Given the description of an element on the screen output the (x, y) to click on. 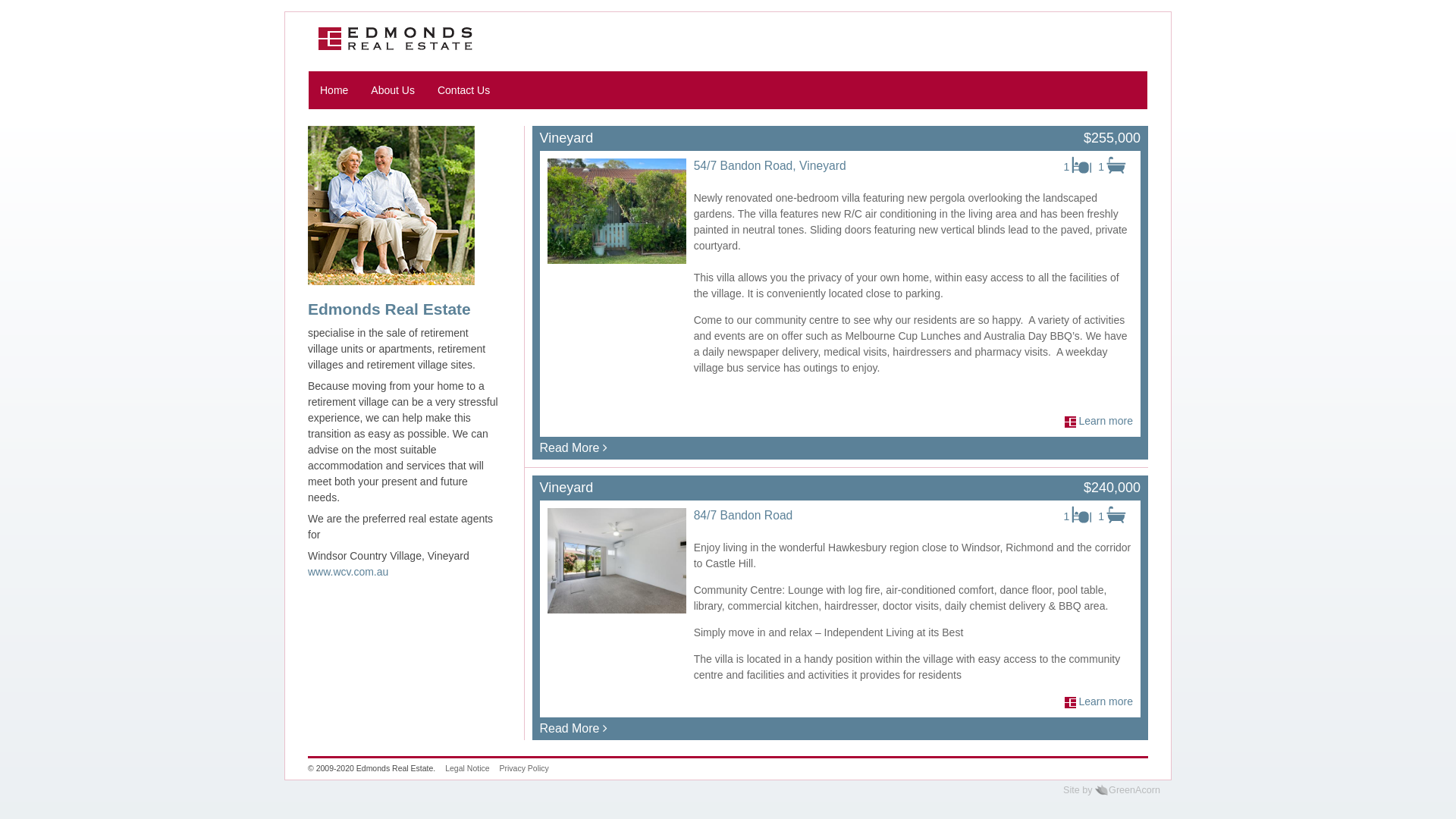
Vineyard Element type: text (566, 137)
Home Element type: hover (395, 38)
Bedrooms Element type: hover (1083, 514)
Bathrooms Element type: hover (1118, 514)
Skip to main content Element type: text (0, 11)
Legal Notice Element type: text (467, 767)
Home Element type: text (333, 90)
Bathrooms Element type: hover (1118, 164)
Read More Element type: text (573, 727)
Site by GreenAcorn Element type: text (1111, 789)
Contact Us Element type: text (463, 90)
84/7 Bandon Road Element type: text (743, 514)
Learn more Element type: text (1105, 420)
Vineyard Element type: text (566, 487)
www.wcv.com.au Element type: text (347, 571)
Learn more Element type: text (1105, 701)
Privacy Policy Element type: text (523, 767)
GreenAcorn Element type: hover (1101, 789)
Read More Element type: text (573, 447)
About Us Element type: text (392, 90)
54/7 Bandon Road, Vineyard Element type: text (769, 165)
Bedrooms Element type: hover (1083, 164)
